Given the description of an element on the screen output the (x, y) to click on. 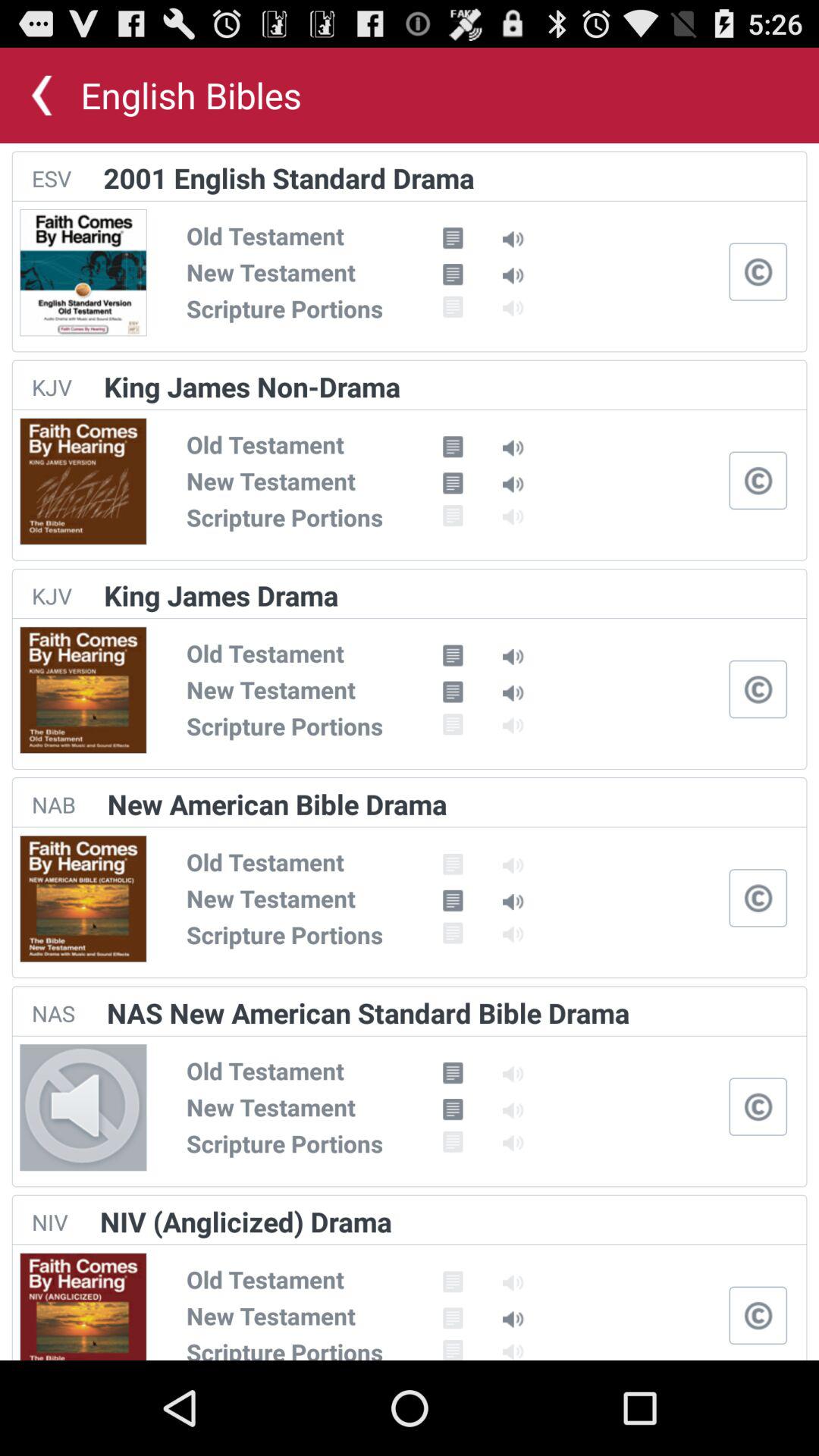
open closed captions (758, 689)
